Given the description of an element on the screen output the (x, y) to click on. 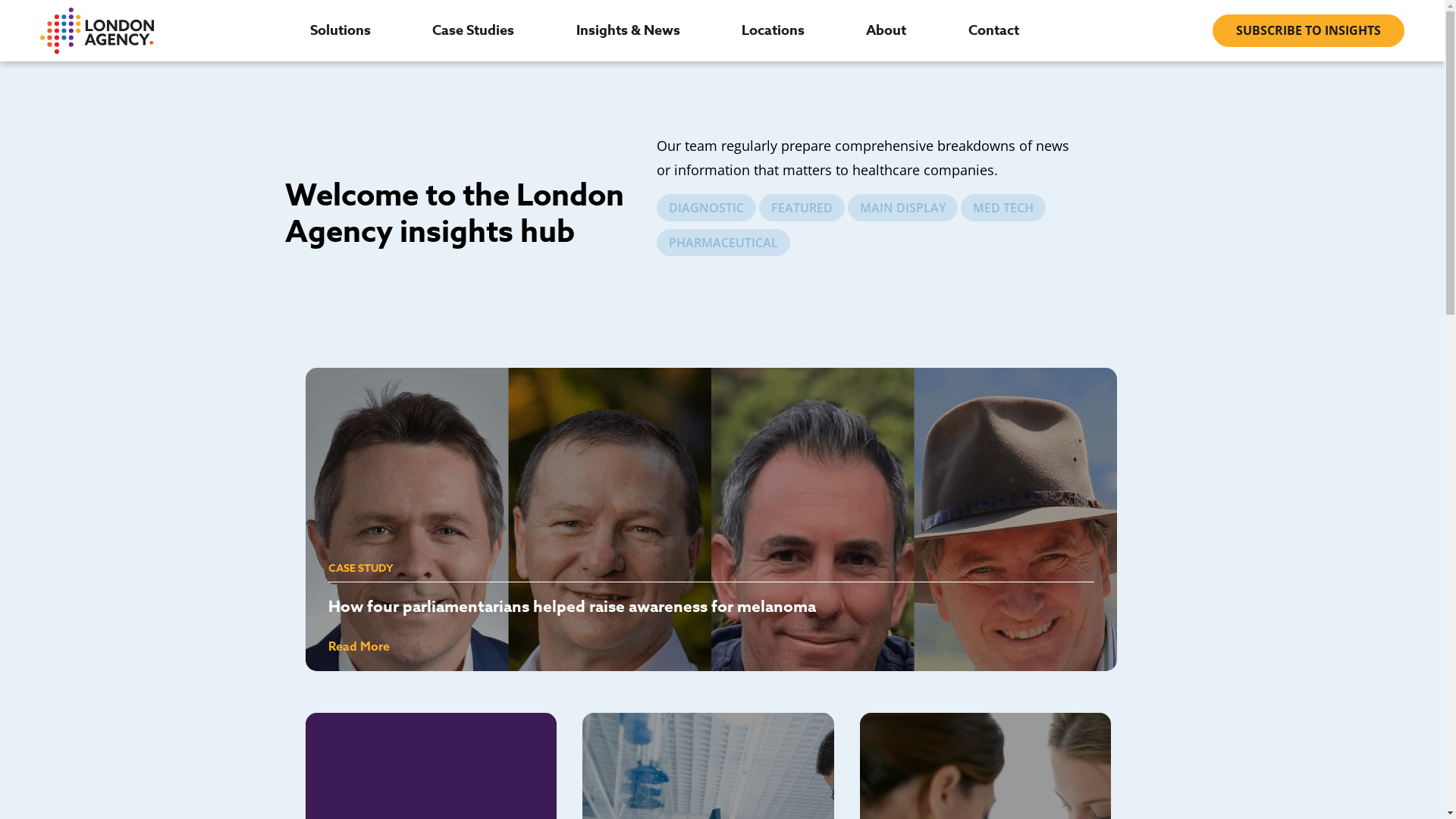
MAIN DISPLAY Element type: text (902, 207)
Solutions Element type: text (340, 30)
Insights & News Element type: text (628, 30)
Contact Element type: text (993, 30)
About Element type: text (886, 30)
Read More Element type: text (358, 646)
DIAGNOSTIC Element type: text (706, 207)
PHARMACEUTICAL Element type: text (723, 242)
FEATURED Element type: text (801, 207)
Locations Element type: text (772, 30)
MED TECH Element type: text (1002, 207)
SUBSCRIBE TO INSIGHTS Element type: text (1308, 30)
Case Studies Element type: text (473, 30)
